Given the description of an element on the screen output the (x, y) to click on. 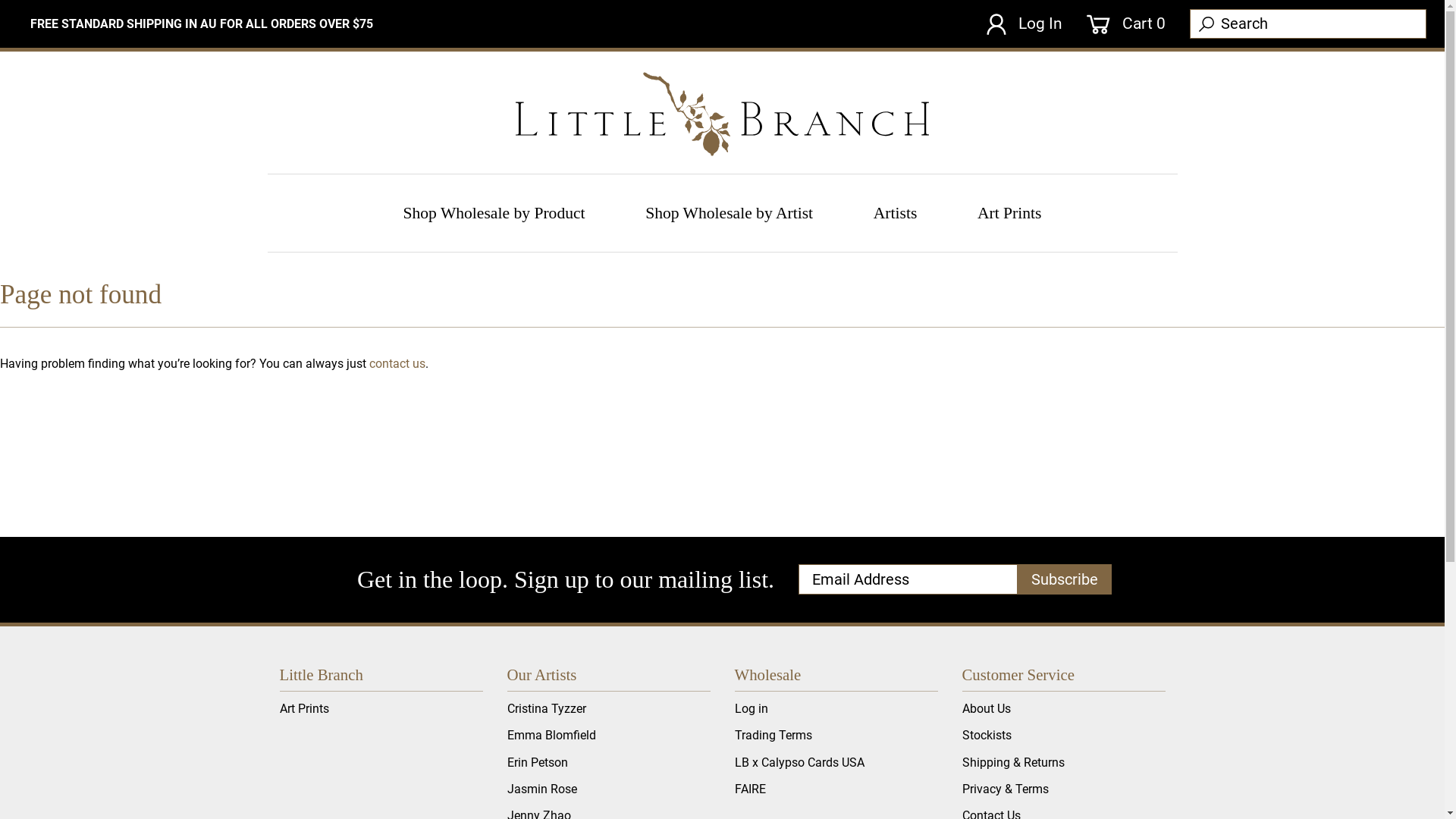
Cart 
0 Element type: text (1125, 23)
Jasmin Rose Element type: text (541, 788)
Log in Element type: text (750, 708)
Shop Wholesale by Product Element type: text (494, 212)
Art Prints Element type: text (1009, 212)
About Us Element type: text (985, 708)
Stockists Element type: text (985, 735)
Subscribe Element type: text (1064, 579)
Shop Wholesale by Artist Element type: text (728, 212)
LB x Calypso Cards USA Element type: text (798, 762)
Artists Element type: text (894, 212)
Trading Terms Element type: text (772, 735)
Art Prints Element type: text (303, 708)
Erin Petson Element type: text (536, 762)
Shipping & Returns Element type: text (1012, 762)
contact us Element type: text (397, 363)
Emma Blomfield Element type: text (550, 735)
FAIRE Element type: text (749, 788)
Cristina Tyzzer Element type: text (545, 708)
Privacy & Terms Element type: text (1004, 788)
Log In Element type: text (1024, 23)
